Given the description of an element on the screen output the (x, y) to click on. 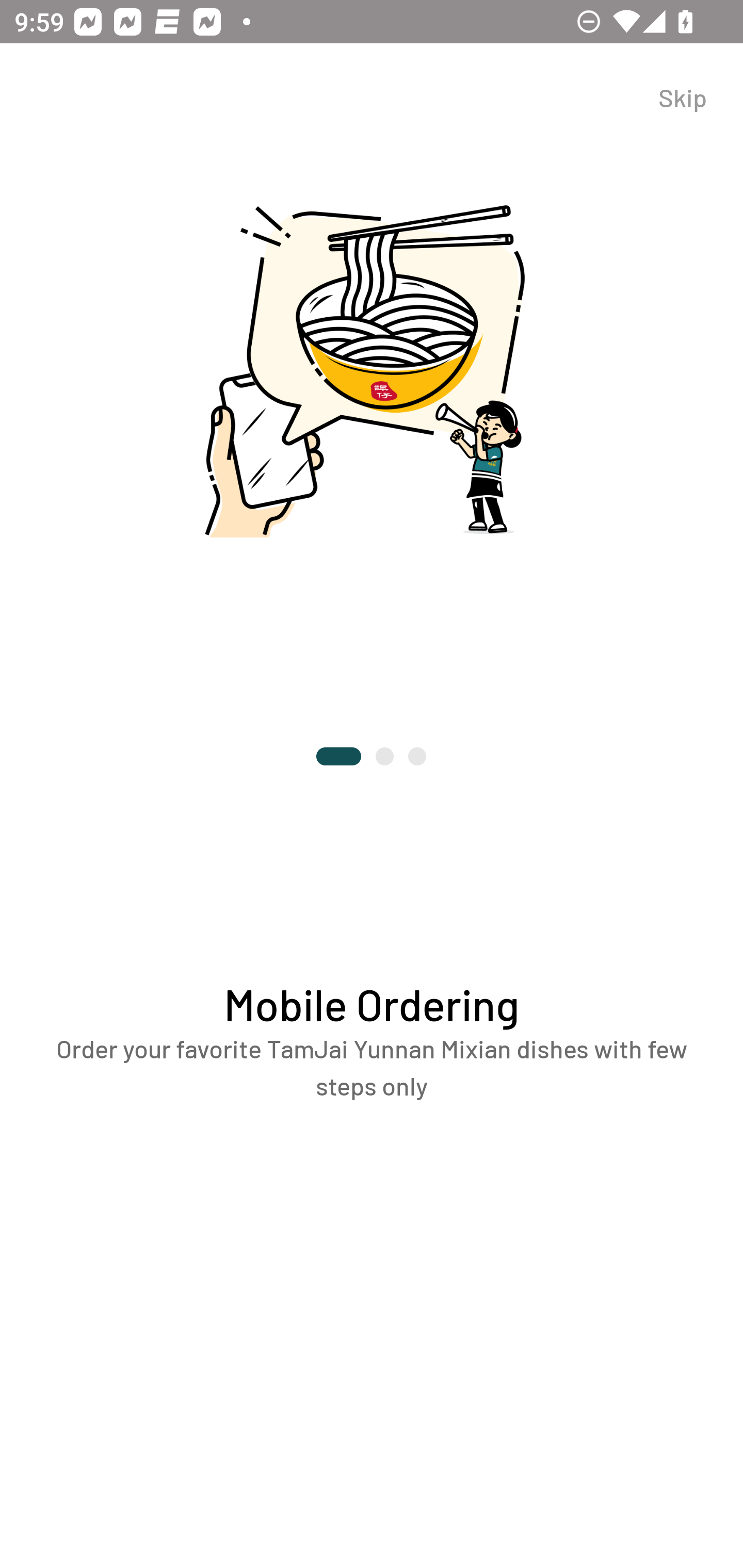
Skip (371, 95)
